Given the description of an element on the screen output the (x, y) to click on. 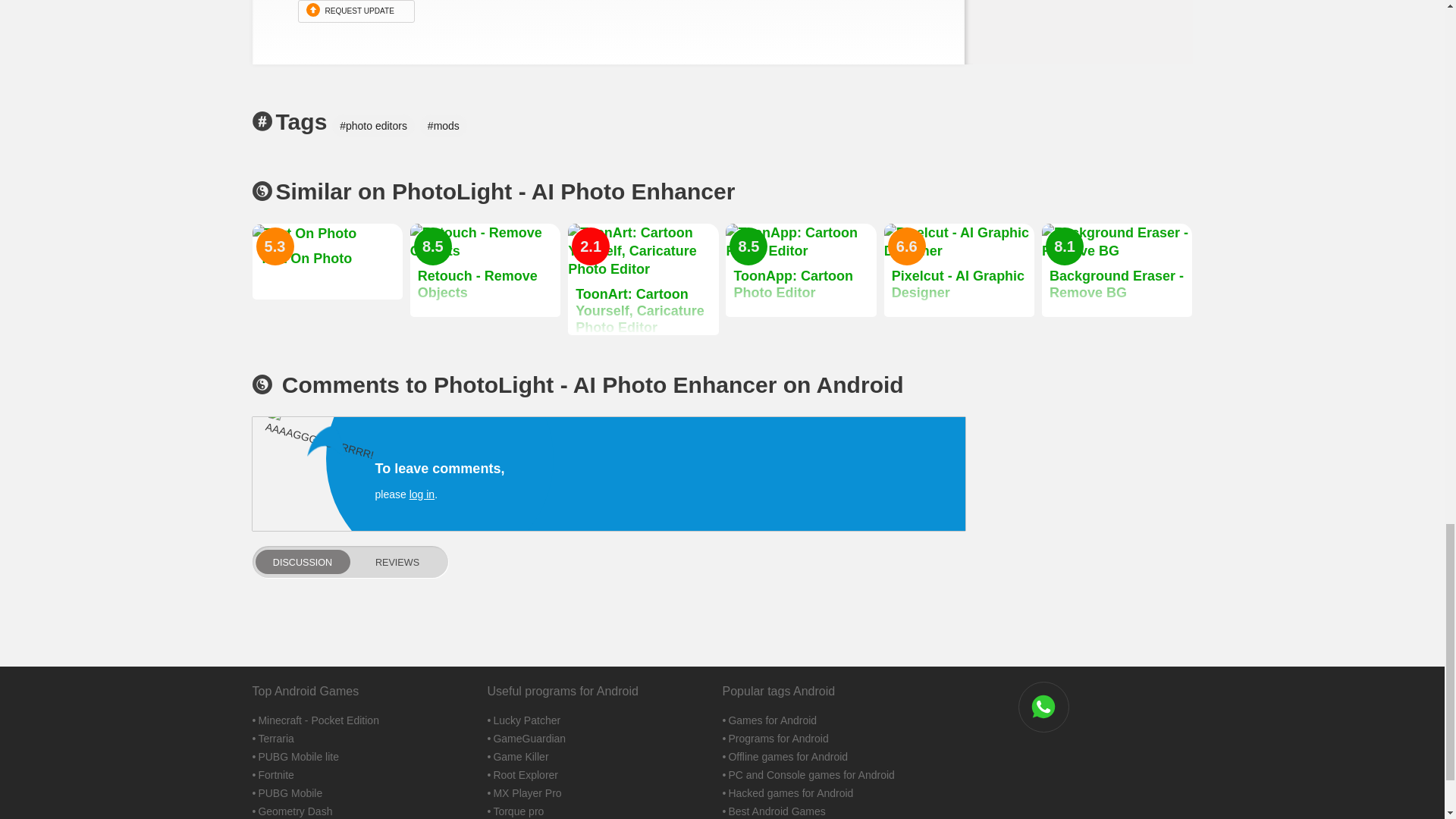
ToonArt: Cartoon Yourself, Caricature Photo Editor (642, 278)
Background Eraser - Remove BG (1117, 269)
Retouch - Remove Objects (485, 269)
Pixelcut - AI Graphic Designer (958, 269)
Text On Photo (326, 261)
ToonApp: Cartoon Photo Editor (800, 269)
Whatsapp (1042, 706)
